Given the description of an element on the screen output the (x, y) to click on. 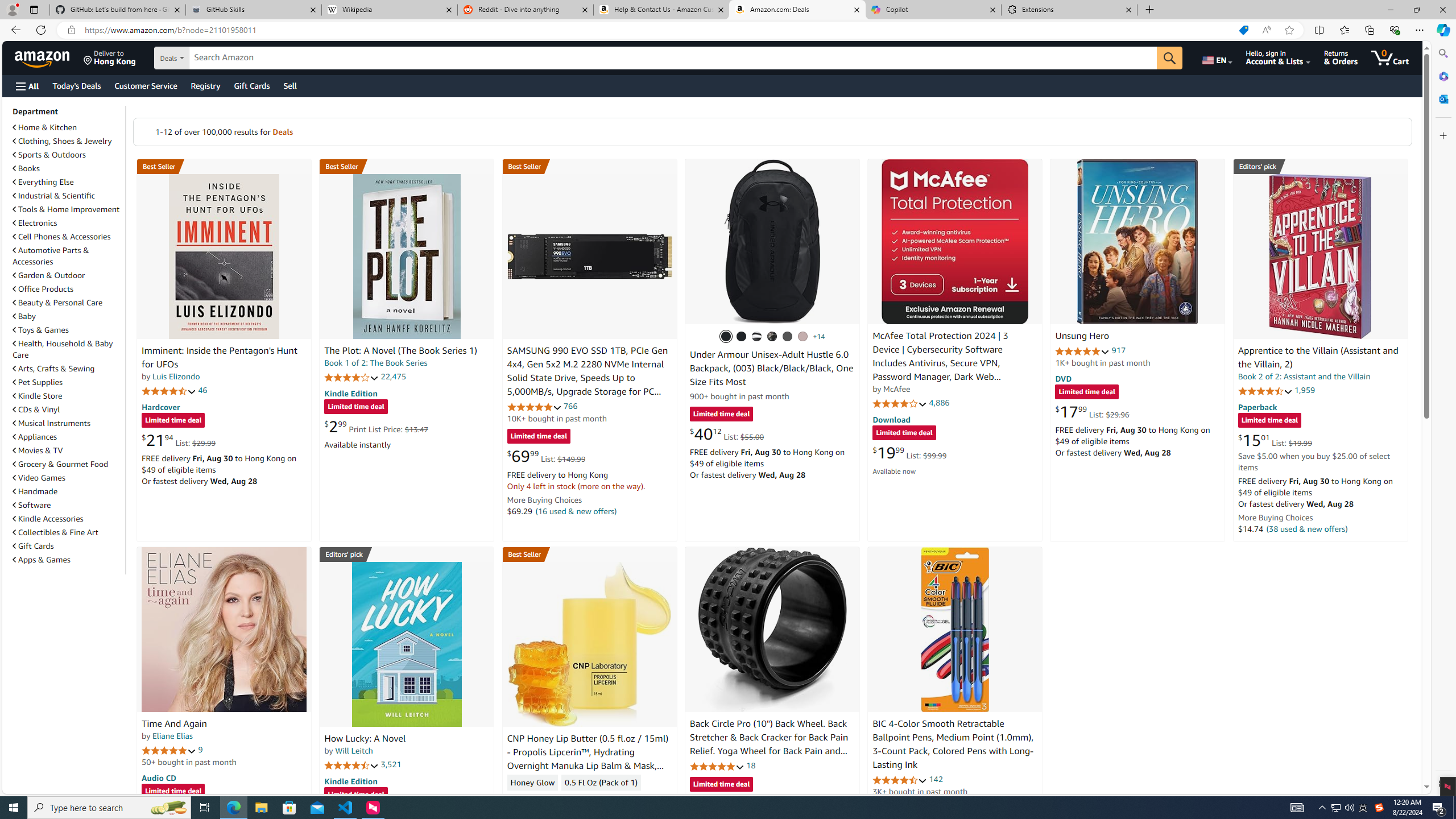
Garden & Outdoor (67, 274)
Best Seller in Unexplained Mysteries (223, 165)
How Lucky: A Novel (365, 738)
(005) Black Full Heather / Black / Metallic Gold (788, 336)
Amazon.com: Deals (797, 9)
Today's Deals (76, 85)
Software (31, 504)
Cell Phones & Accessories (67, 236)
Close tab (1129, 9)
$21.94 List: $29.99 (178, 439)
Kindle Store (67, 395)
Amazon (43, 57)
